Given the description of an element on the screen output the (x, y) to click on. 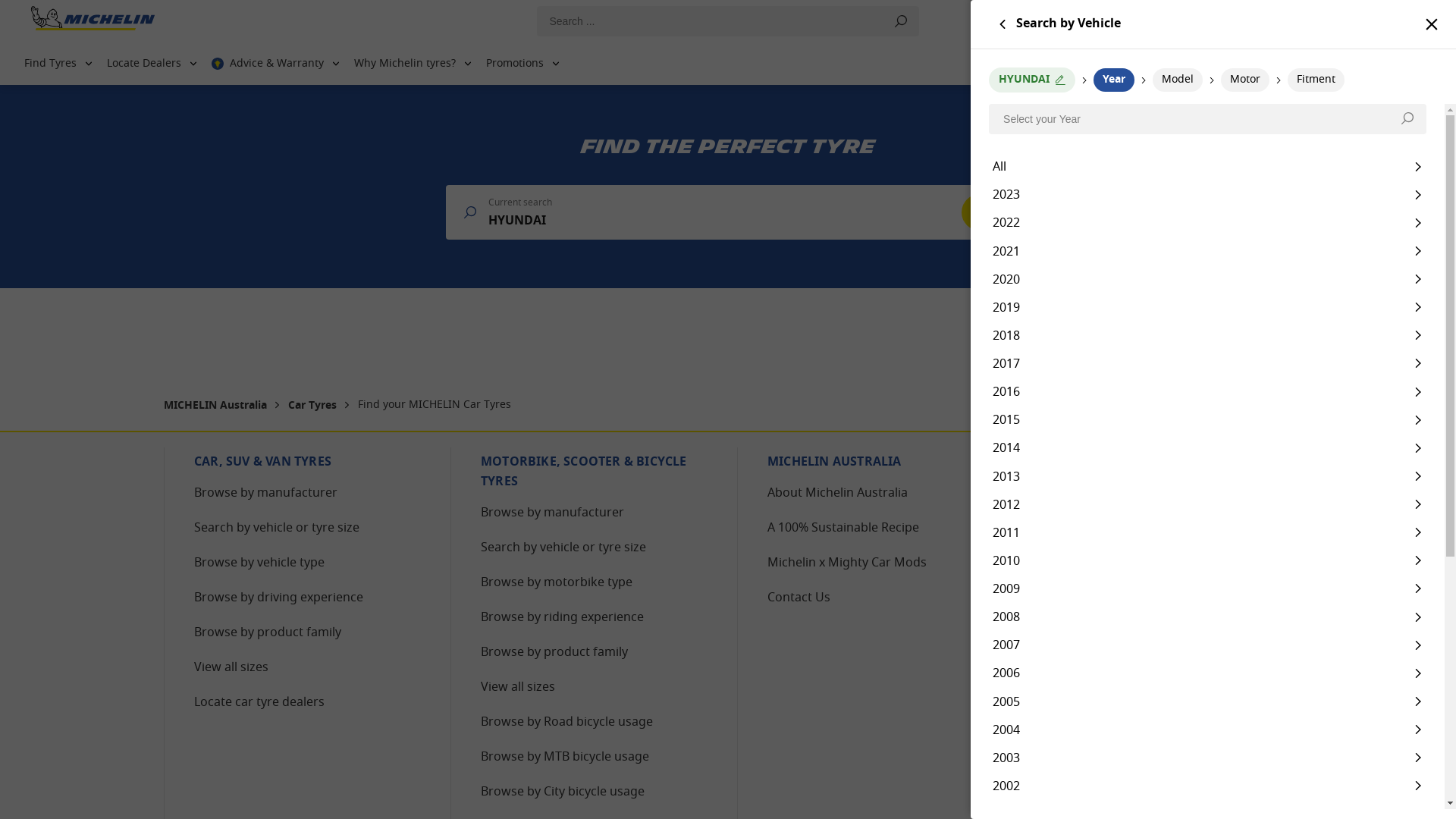
Michelin x Mighty Car Mods Element type: text (846, 563)
Fitment Element type: text (1315, 79)
Browse by manufacturer Element type: text (265, 493)
Locate car tyre dealers Element type: text (259, 702)
2010 Element type: text (1207, 560)
FAQ for cars Element type: text (1089, 493)
Search by vehicle or tyre size Element type: text (563, 548)
Assistance Element type: text (1395, 63)
2004 Element type: text (1207, 729)
2019 Element type: text (1207, 307)
Find Dealers Element type: text (1293, 63)
2006 Element type: text (1207, 672)
Browse by MTB bicycle usage Element type: text (564, 757)
2008 Element type: text (1207, 616)
When should I change my motorbike tyres? Element type: text (1160, 607)
2018 Element type: text (1207, 335)
Tyre Fire Hazards Element type: text (1104, 687)
About Michelin Australia Element type: text (837, 493)
All Element type: text (1207, 166)
Browse by product family Element type: text (267, 633)
Homepage Element type: hover (92, 21)
Car Element type: text (1410, 21)
View all sizes Element type: text (231, 667)
2002 Element type: text (1207, 785)
Model Element type: text (1177, 79)
2012 Element type: text (1207, 503)
Browse by driving experience Element type: text (278, 598)
2016 Element type: text (1207, 391)
2023 Element type: text (1207, 194)
Browse by motorbike type Element type: text (556, 583)
Browse by product family Element type: text (553, 652)
2022 Element type: text (1207, 222)
View all sizes Element type: text (517, 687)
2017 Element type: text (1207, 363)
Year Element type: text (1113, 79)
Browse by City bicycle usage Element type: text (562, 792)
Browse by manufacturer Element type: text (552, 513)
2013 Element type: text (1207, 475)
2020 Element type: text (1207, 279)
Browse by vehicle type Element type: text (259, 563)
Ethics at Michelin Element type: text (1104, 722)
2021 Element type: text (1207, 250)
2014 Element type: text (1207, 447)
Tyre Selector Element type: text (1178, 63)
Car Tyres Element type: text (313, 405)
Motor Element type: text (1244, 79)
HYUNDAI Element type: text (1031, 79)
2005 Element type: text (1207, 701)
2007 Element type: text (1207, 644)
Search by vehicle or tyre size Element type: text (276, 528)
Browse by Road bicycle usage Element type: text (566, 722)
FAQ for motorbikes Element type: text (1110, 528)
2003 Element type: text (1207, 757)
MICHELIN Australia Element type: text (216, 405)
2015 Element type: text (1207, 419)
Contact Us Element type: text (798, 598)
When should I change my car tyres? Element type: text (1157, 563)
Browse by riding experience Element type: text (561, 617)
Tips and advice Element type: text (1098, 652)
Current search
HYUNDAI Element type: text (727, 212)
A 100% Sustainable Recipe Element type: text (843, 528)
2011 Element type: text (1207, 532)
2009 Element type: text (1207, 588)
